Given the description of an element on the screen output the (x, y) to click on. 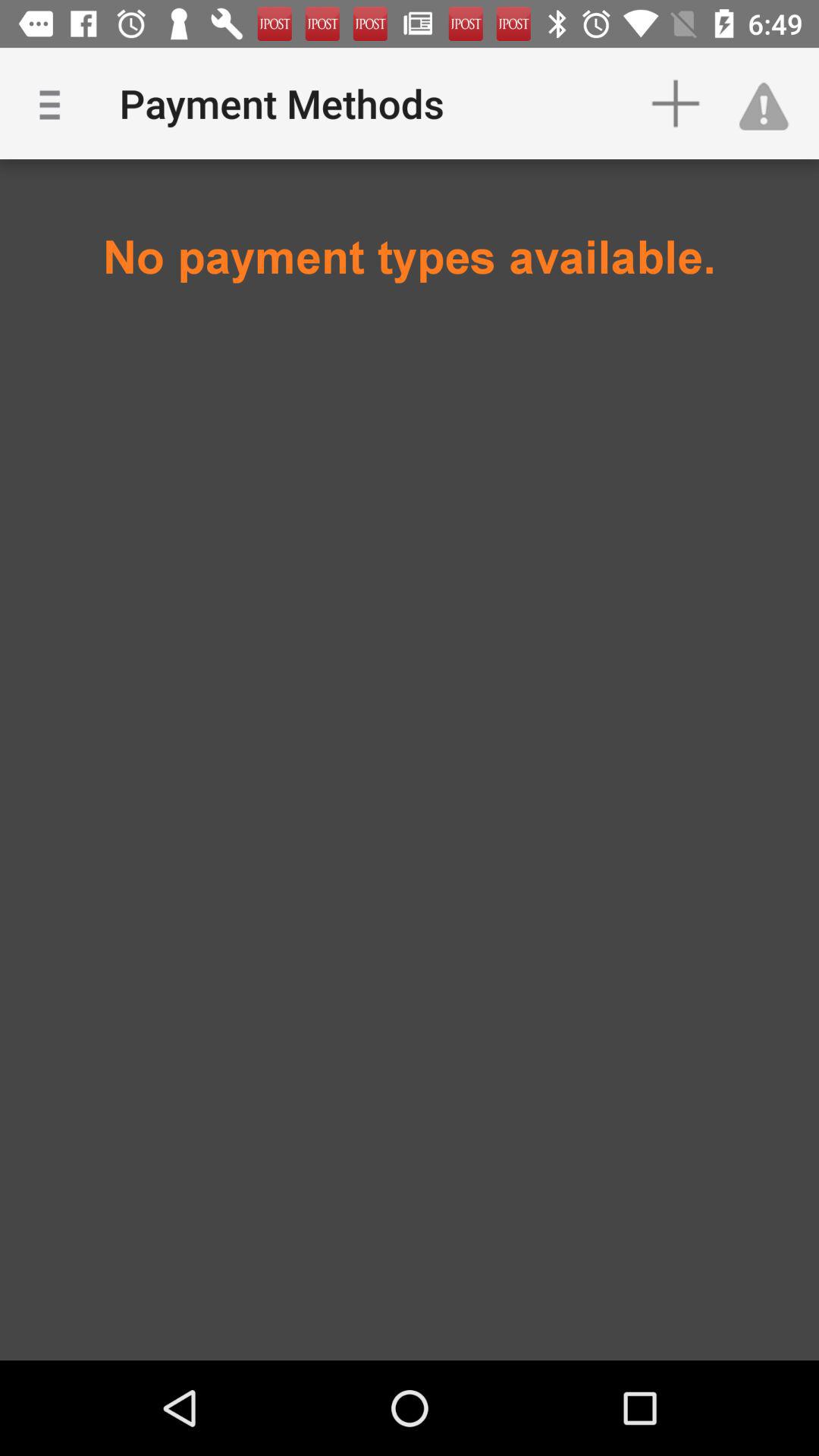
click the icon next to the payment methods (55, 103)
